Given the description of an element on the screen output the (x, y) to click on. 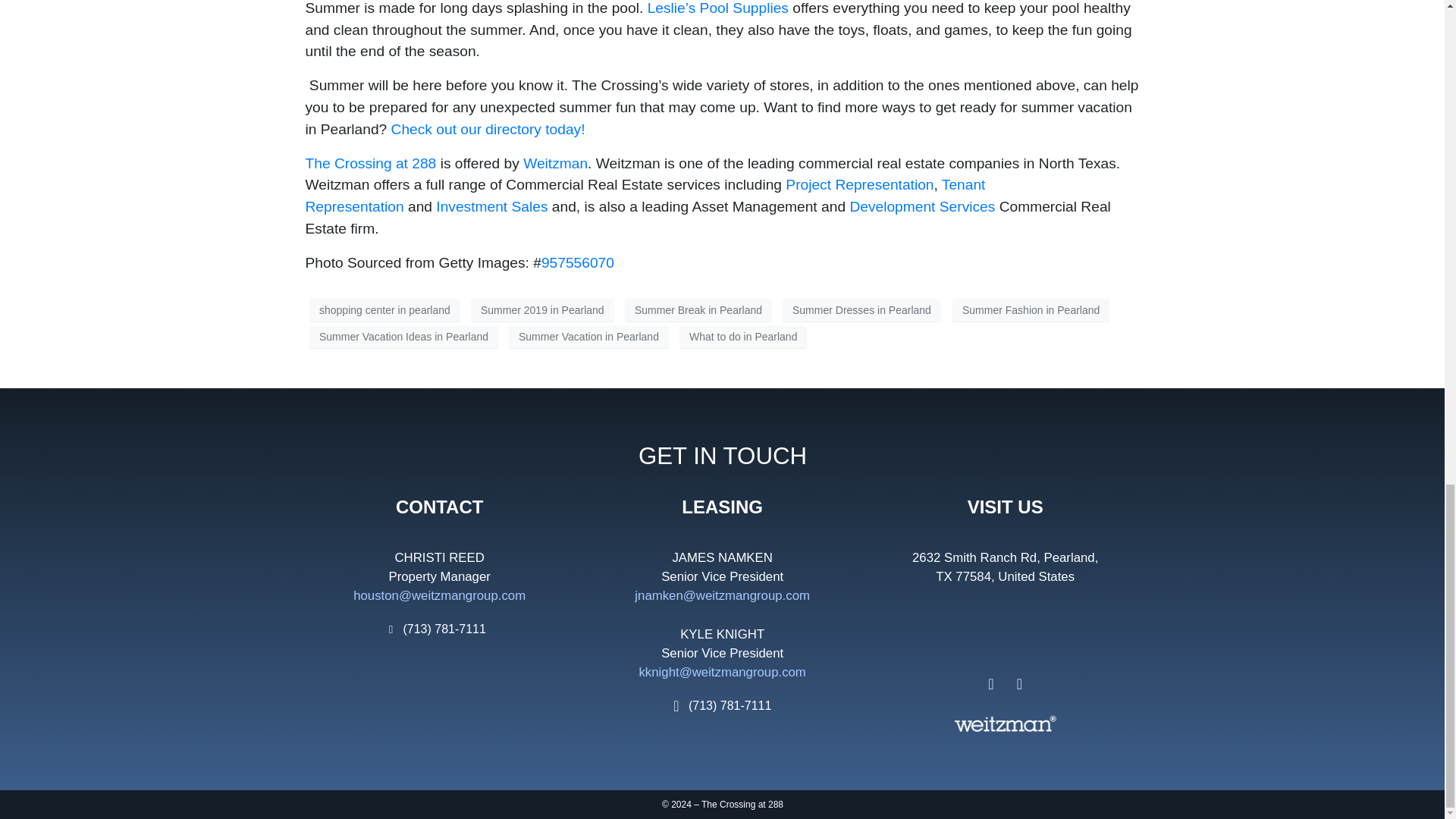
Tenant Representation (644, 195)
Summer Dresses in Pearland (861, 309)
Summer Break in Pearland (697, 309)
Check out our directory today! (488, 129)
957556070 (577, 262)
Weitzman (555, 163)
The Crossing at 288  (371, 163)
shopping center in pearland (384, 309)
Summer Vacation in Pearland (588, 336)
Investment Sales  (493, 206)
Development Services (921, 206)
Summer Fashion in Pearland (1030, 309)
Summer 2019 in Pearland (542, 309)
Summer Vacation Ideas in Pearland (402, 336)
Project Representation (859, 184)
